Given the description of an element on the screen output the (x, y) to click on. 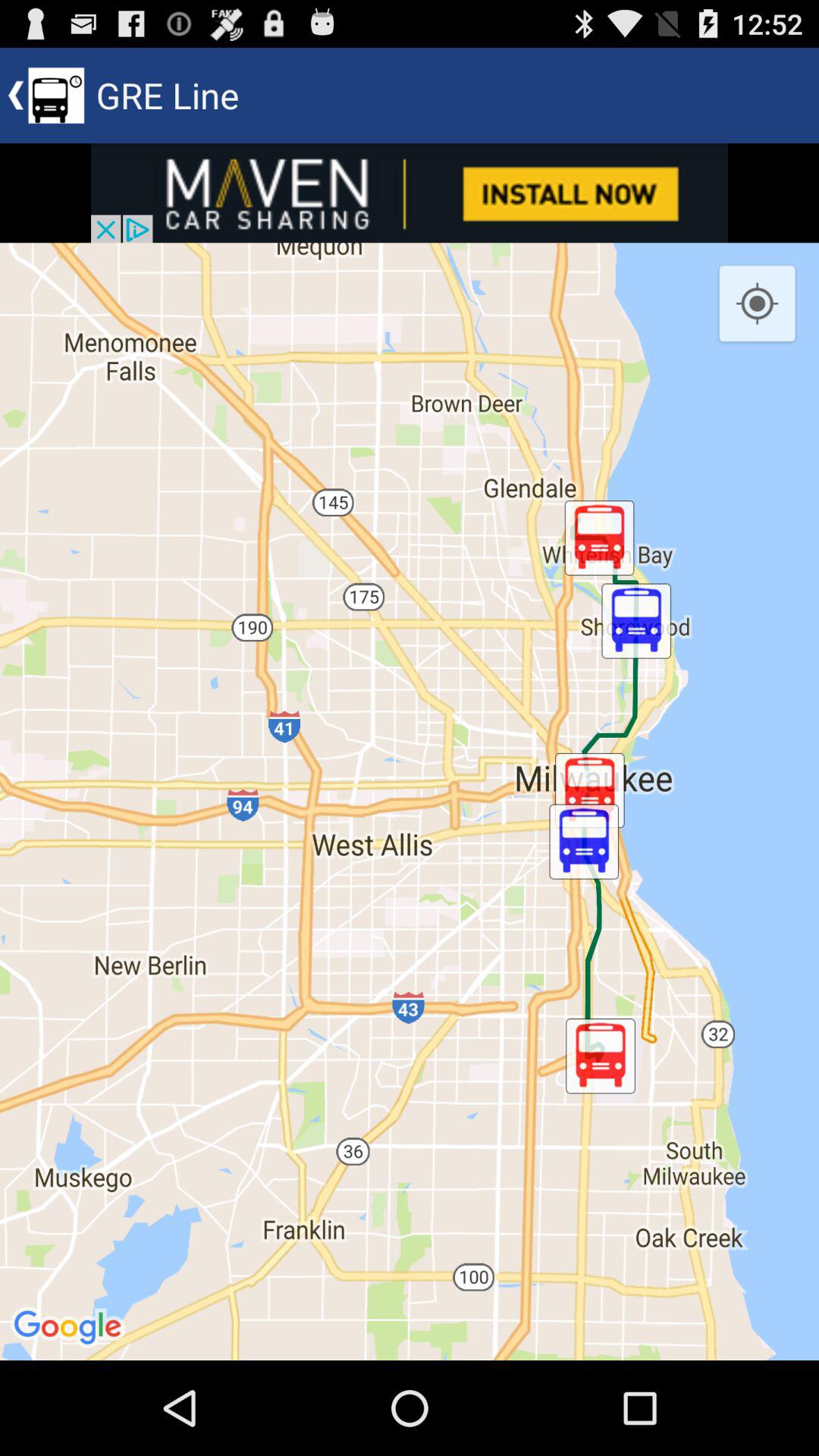
advertisement link (409, 192)
